Given the description of an element on the screen output the (x, y) to click on. 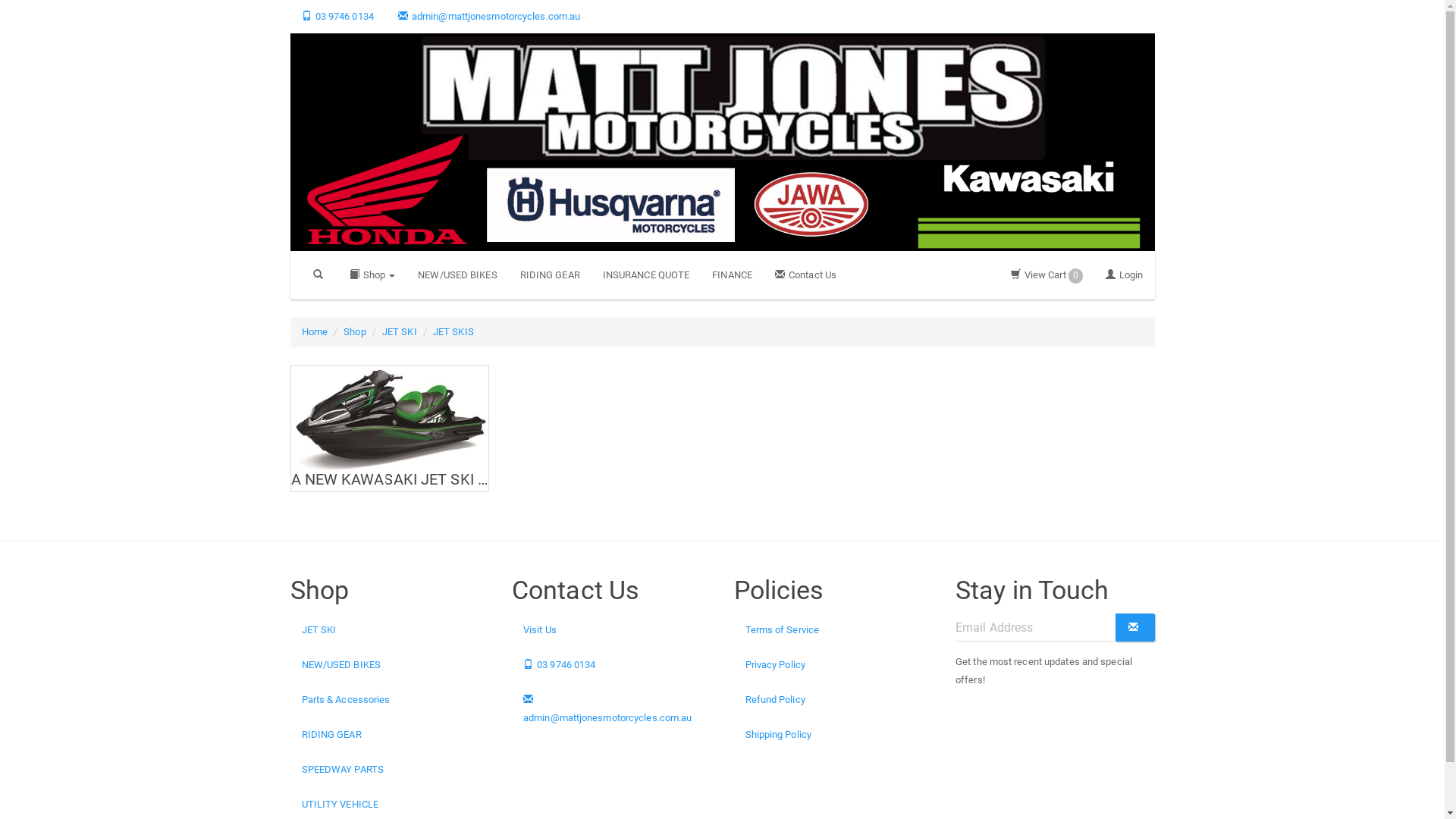
Privacy Policy Element type: text (833, 664)
03 9746 0134 Element type: text (336, 16)
Contact Us Element type: text (805, 275)
INSURANCE QUOTE Element type: text (646, 275)
Shop Element type: text (354, 331)
JET SKI Element type: text (389, 629)
View Cart 0 Element type: text (1046, 275)
A NEW KAWASAKI JET SKI FOR SALE IN MELBOURNE Element type: text (389, 428)
03 9746 0134 Element type: text (611, 664)
Shipping Policy Element type: text (833, 734)
Terms of Service Element type: text (833, 629)
admin@mattjonesmotorcycles.com.au Element type: text (611, 708)
Refund Policy Element type: text (833, 699)
admin@mattjonesmotorcycles.com.au Element type: text (488, 16)
Login Element type: text (1124, 275)
RIDING GEAR Element type: text (549, 275)
JET SKI Element type: text (399, 331)
NEW/USED BIKES Element type: text (457, 275)
NEW/USED BIKES Element type: text (389, 664)
Visit Us Element type: text (611, 629)
Home Element type: text (314, 331)
Shop Element type: text (372, 275)
FINANCE Element type: text (731, 275)
RIDING GEAR Element type: text (389, 734)
Parts & Accessories Element type: text (389, 699)
SPEEDWAY PARTS Element type: text (389, 769)
JET SKIS Element type: text (453, 331)
